Given the description of an element on the screen output the (x, y) to click on. 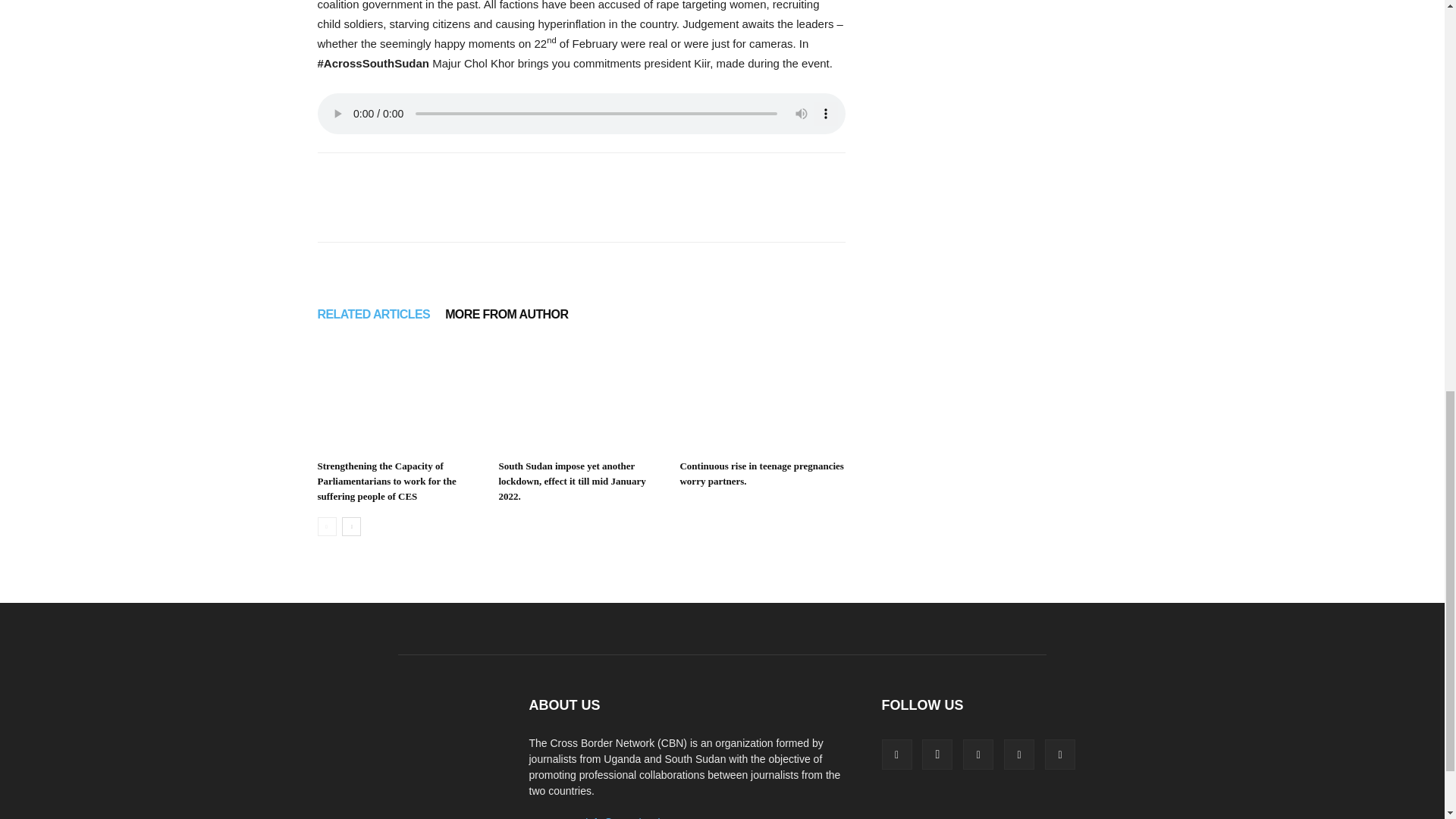
Continuous rise in teenage pregnancies worry partners. (761, 396)
